Given the description of an element on the screen output the (x, y) to click on. 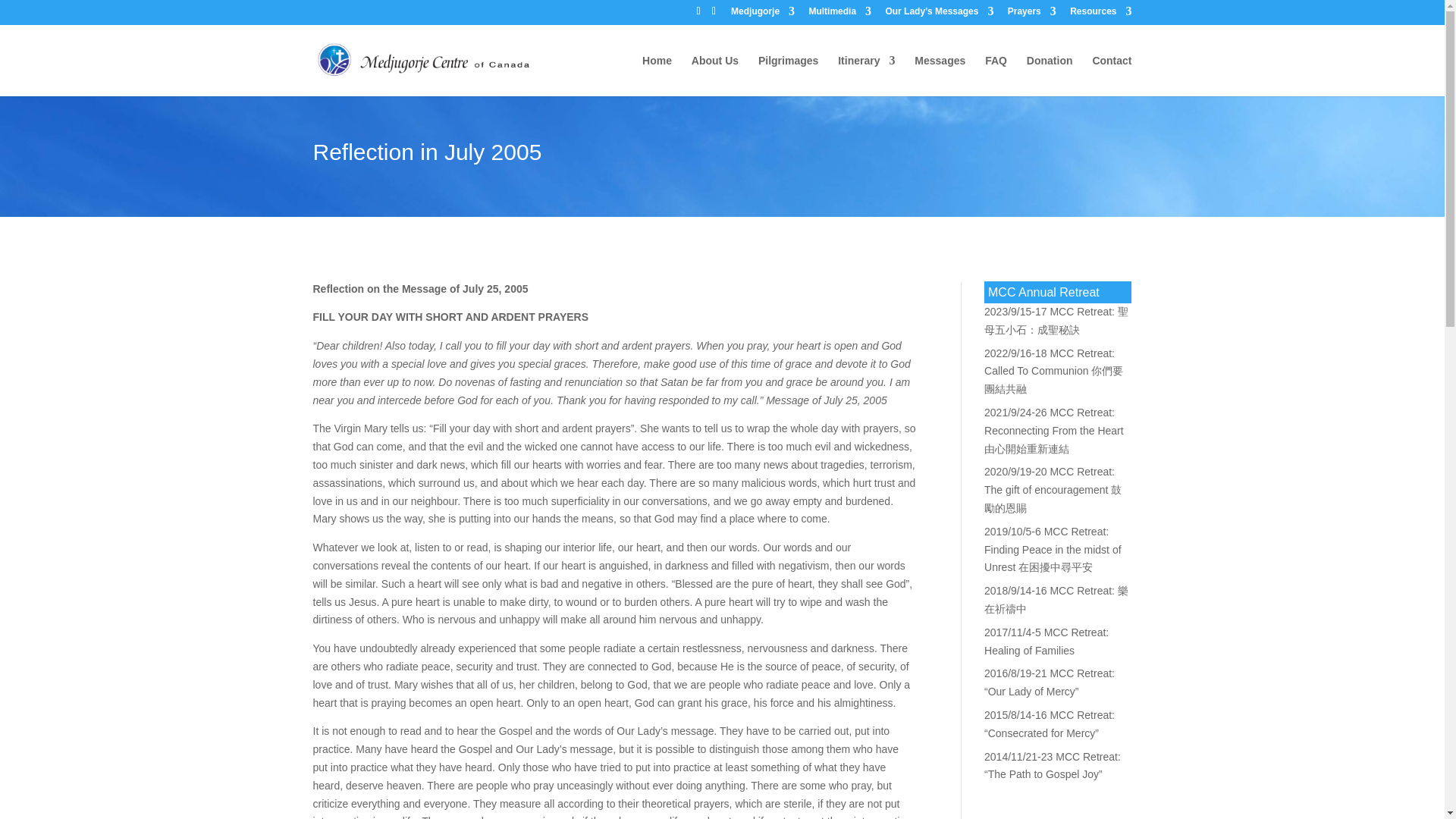
Resources (1100, 14)
Multimedia (839, 14)
Medjugorje (762, 14)
Prayers (1032, 14)
